Given the description of an element on the screen output the (x, y) to click on. 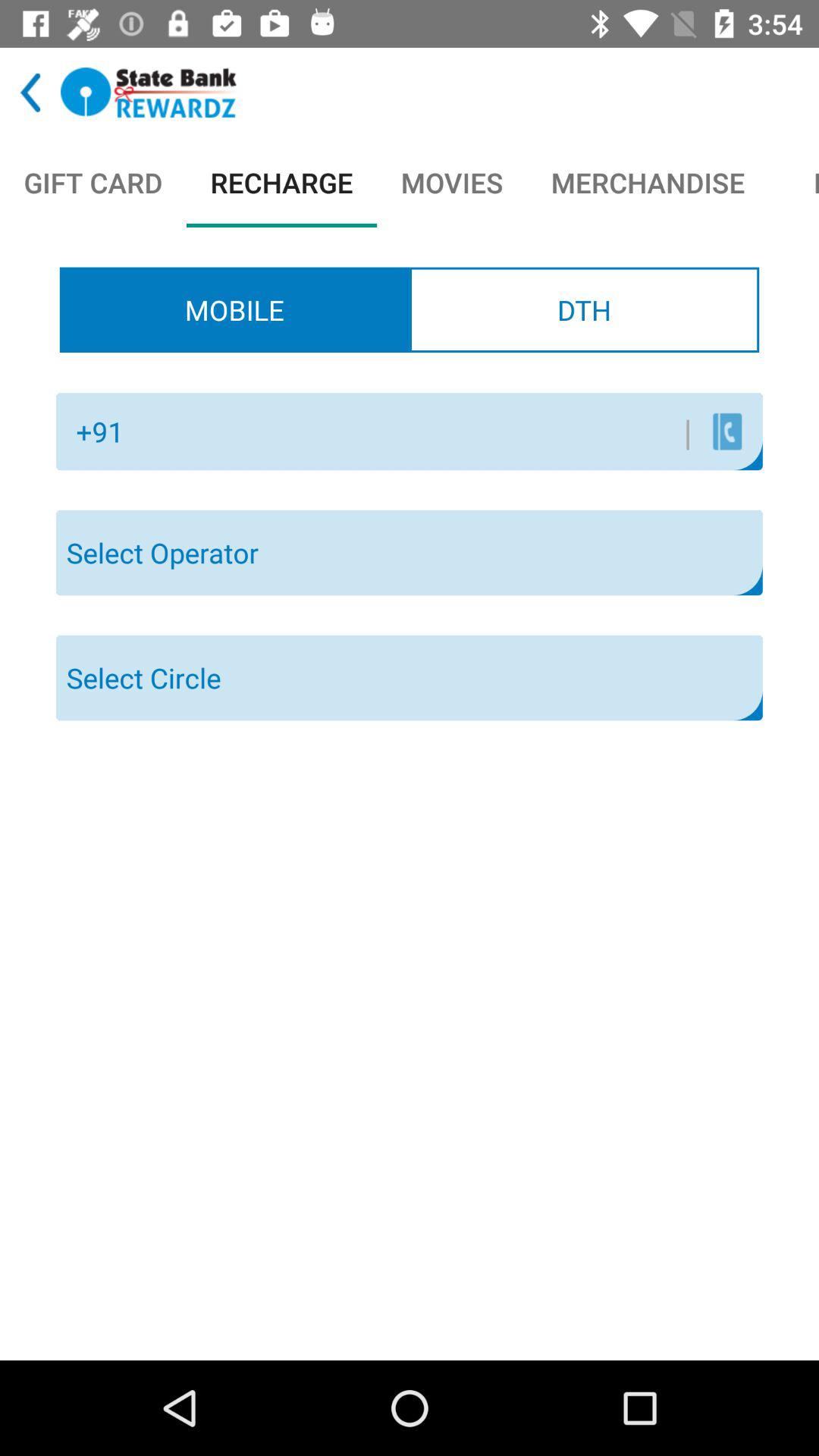
access site (148, 92)
